Given the description of an element on the screen output the (x, y) to click on. 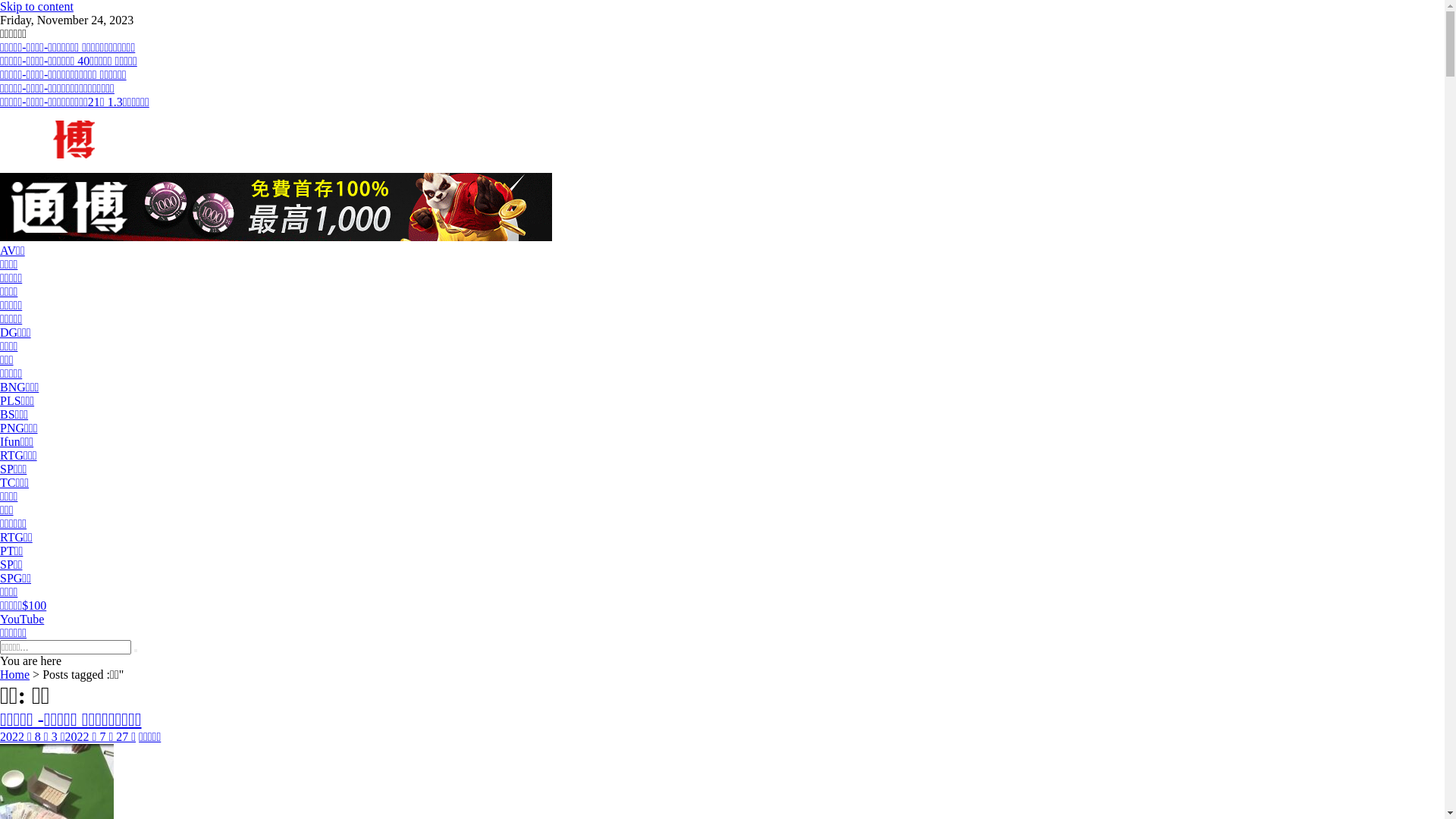
Skip to content Element type: text (36, 6)
YouTube Element type: text (21, 618)
Home Element type: text (14, 674)
